Given the description of an element on the screen output the (x, y) to click on. 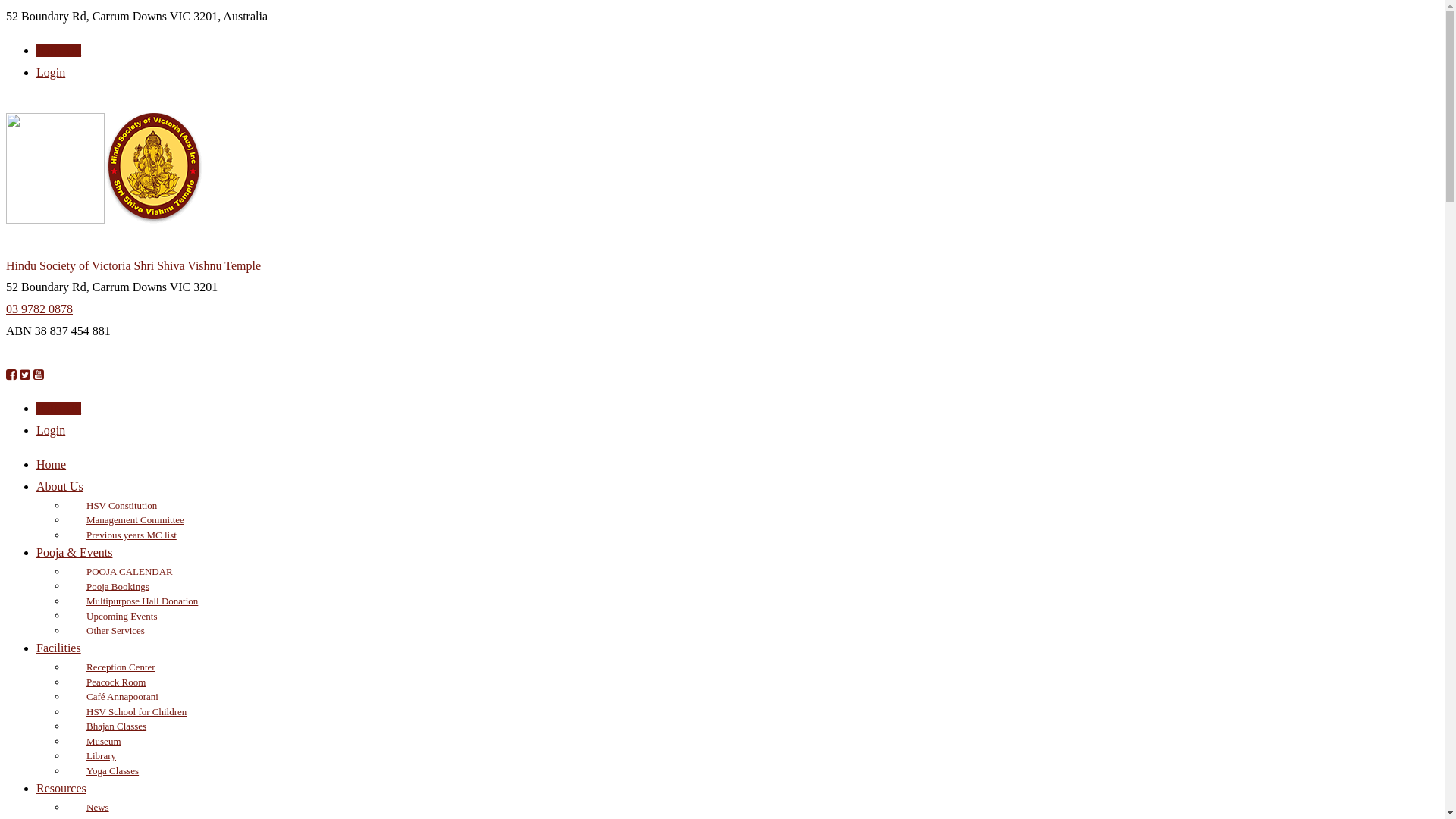
POOJA CALENDAR Element type: text (127, 571)
Home Element type: text (50, 464)
JOIN US Element type: text (58, 49)
03 9782 0878 Element type: text (39, 308)
Upcoming Events Element type: text (120, 615)
Museum Element type: text (102, 741)
Multipurpose Hall Donation Element type: text (140, 600)
Pooja Bookings Element type: text (116, 586)
Bhajan Classes Element type: text (114, 725)
Other Services Element type: text (113, 630)
Yoga Classes Element type: text (110, 770)
Login Element type: text (50, 429)
Management Committee Element type: text (133, 519)
Reception Center Element type: text (119, 666)
Library Element type: text (99, 755)
HSV School for Children Element type: text (134, 711)
Hindu Society of Victoria Shri Shiva Vishnu Temple Element type: text (722, 266)
Login Element type: text (50, 71)
Resources Element type: text (61, 787)
Peacock Room Element type: text (114, 681)
HSV Constitution Element type: text (119, 505)
Pooja & Events Element type: text (74, 552)
About Us Element type: text (59, 486)
Previous years MC list Element type: text (129, 534)
JOIN US Element type: text (58, 407)
Facilities Element type: text (58, 647)
